Given the description of an element on the screen output the (x, y) to click on. 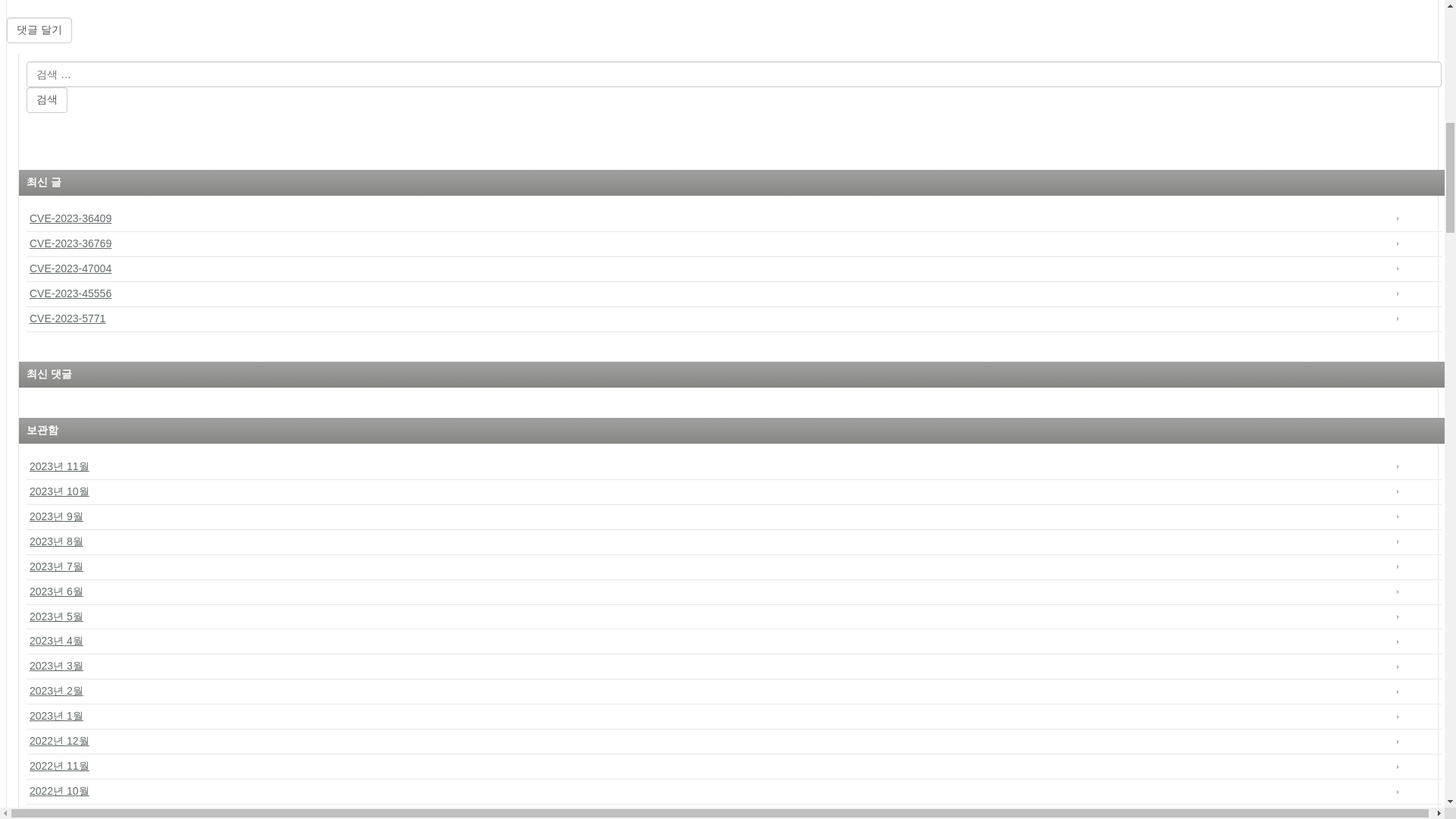
CVE-2023-36769 (733, 244)
CVE-2023-45556 (733, 294)
CVE-2023-36409 (733, 219)
CVE-2023-5771 (733, 319)
CVE-2023-47004 (733, 269)
